Given the description of an element on the screen output the (x, y) to click on. 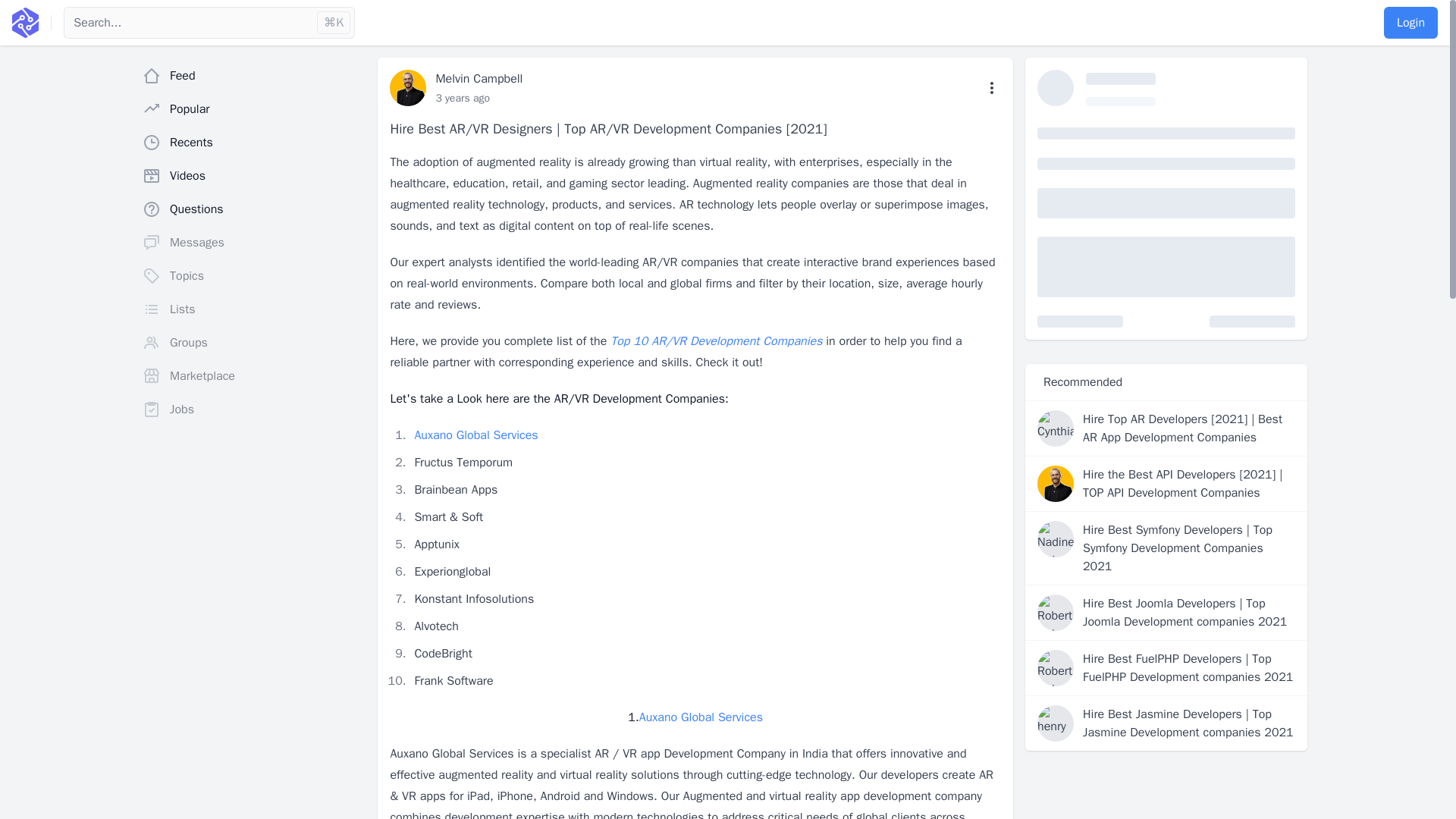
Auxano Global Services (475, 435)
Recents (253, 142)
Login (1411, 22)
Videos (253, 175)
Popular (253, 109)
Melvin Campbell (478, 78)
3 years ago (462, 97)
Feed (253, 75)
Auxano Global Services (700, 717)
Open options (991, 87)
